Given the description of an element on the screen output the (x, y) to click on. 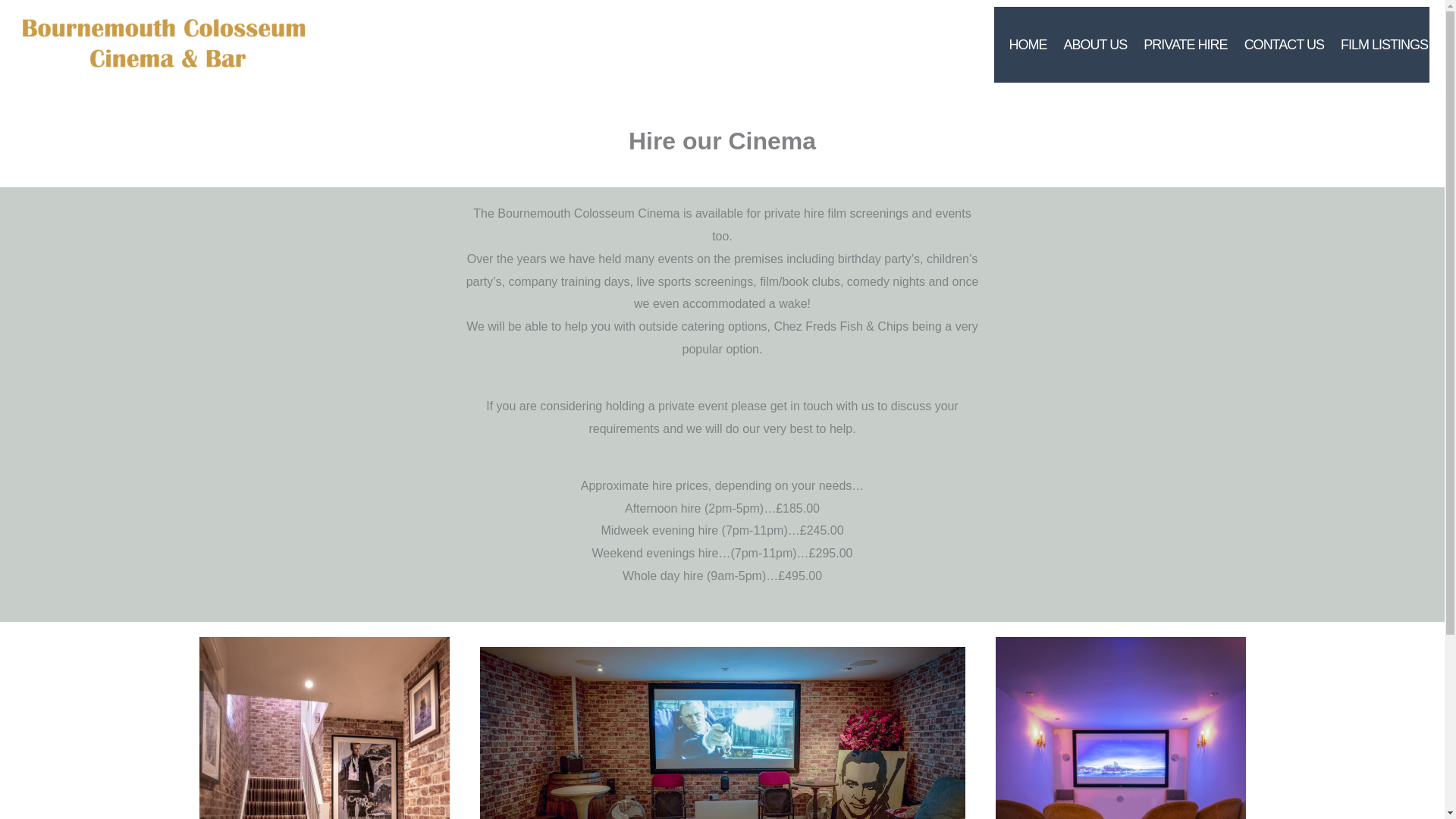
ABOUT US (1088, 43)
PRIVATE HIRE (1178, 43)
FILM LISTINGS (1376, 43)
CONTACT US (1276, 43)
